Given the description of an element on the screen output the (x, y) to click on. 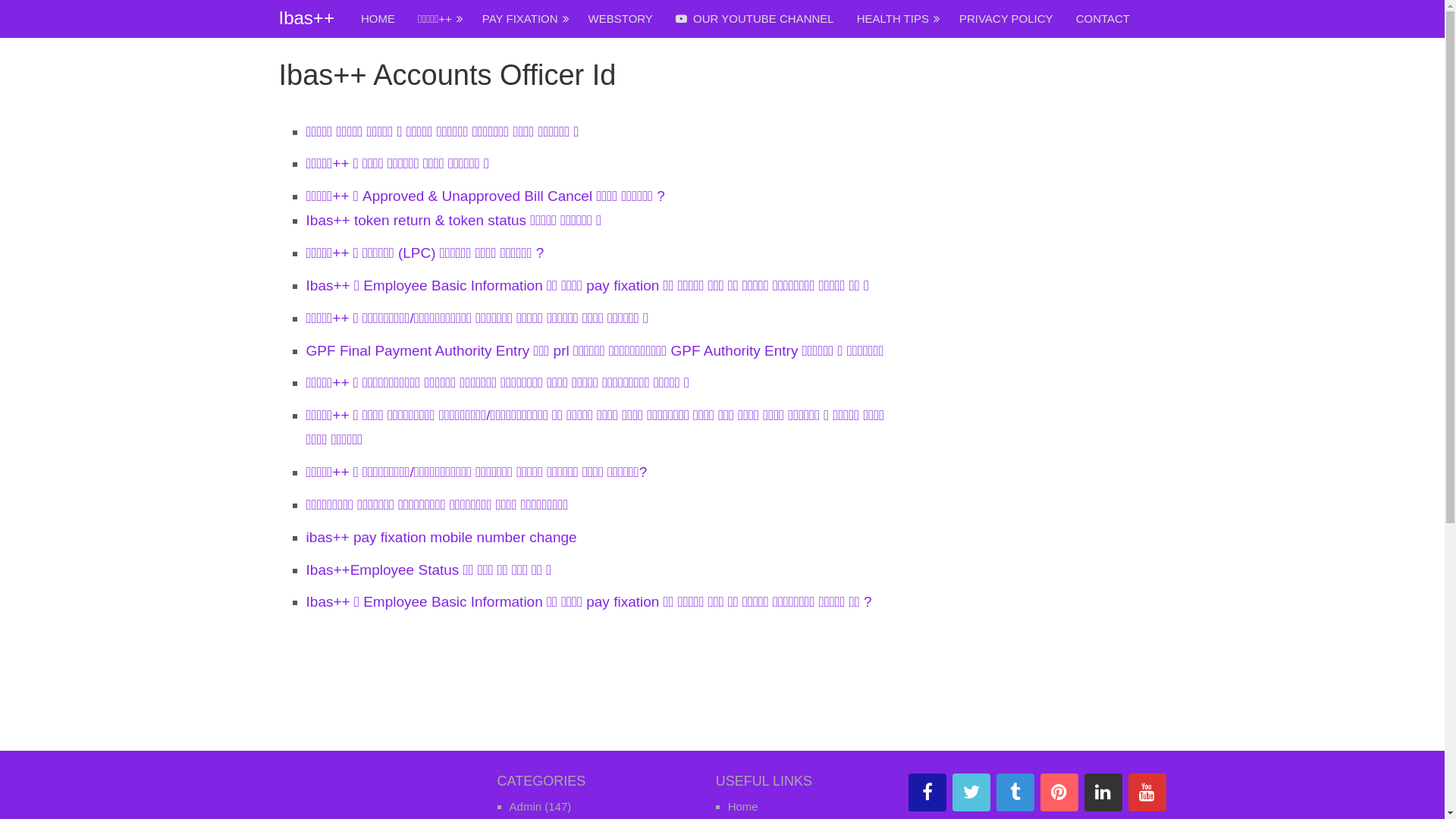
Ibas++ Element type: text (306, 18)
HOME Element type: text (377, 18)
CONTACT Element type: text (1102, 18)
Home Element type: text (743, 806)
HEALTH TIPS Element type: text (896, 18)
WEBSTORY Element type: text (620, 18)
OUR YOUTUBE CHANNEL Element type: text (754, 18)
PAY FIXATION Element type: text (523, 18)
Admin Element type: text (525, 806)
ibas++ pay fixation mobile number change Element type: text (441, 537)
PRIVACY POLICY Element type: text (1005, 18)
